Given the description of an element on the screen output the (x, y) to click on. 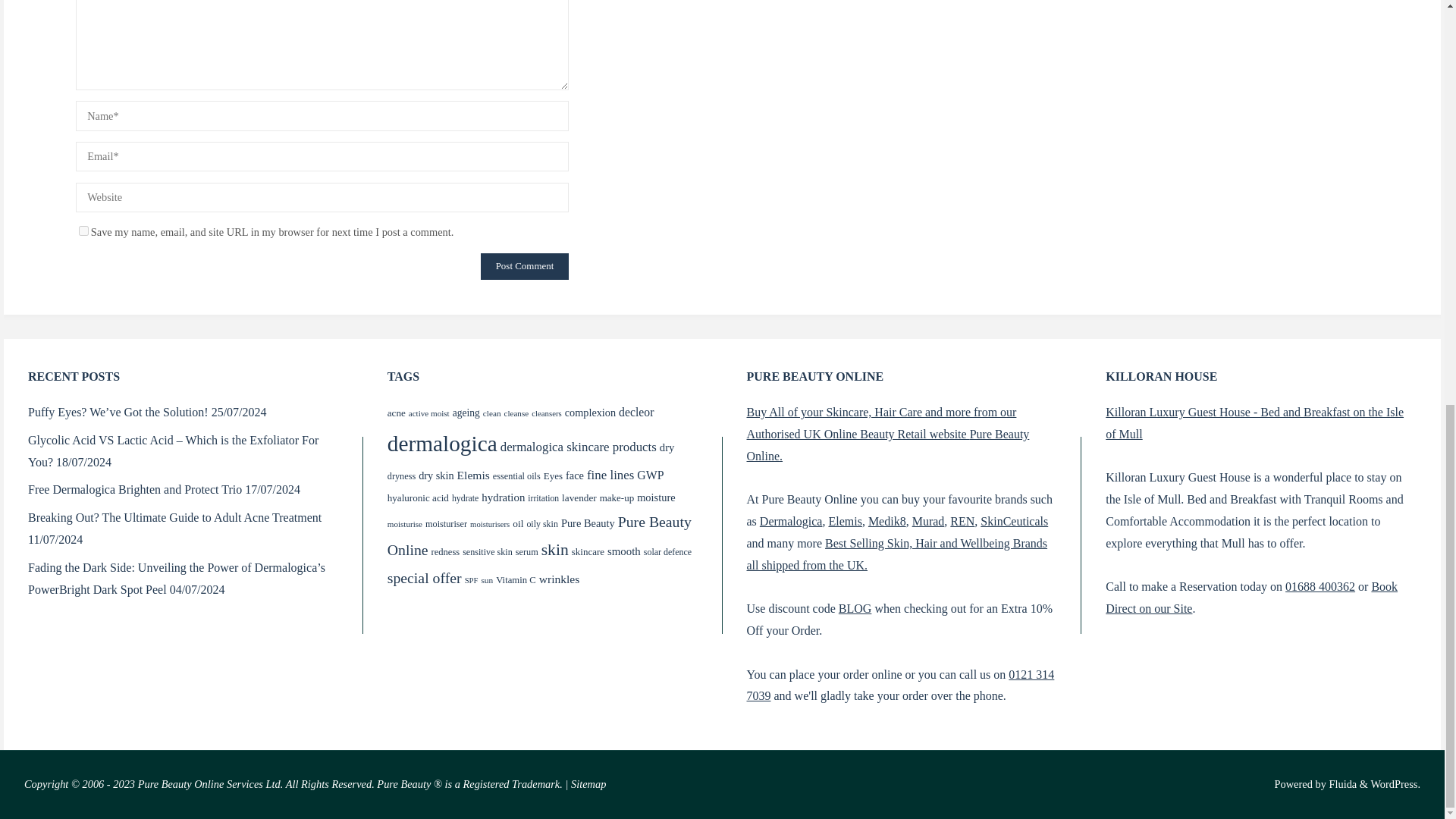
yes (83, 230)
Fluida WordPress Theme by Cryout Creations (1341, 784)
Post Comment (524, 266)
Bed and Breakfast at Killoran Luxury Guest House (1254, 422)
Semantic Personal Publishing Platform (1395, 784)
